Given the description of an element on the screen output the (x, y) to click on. 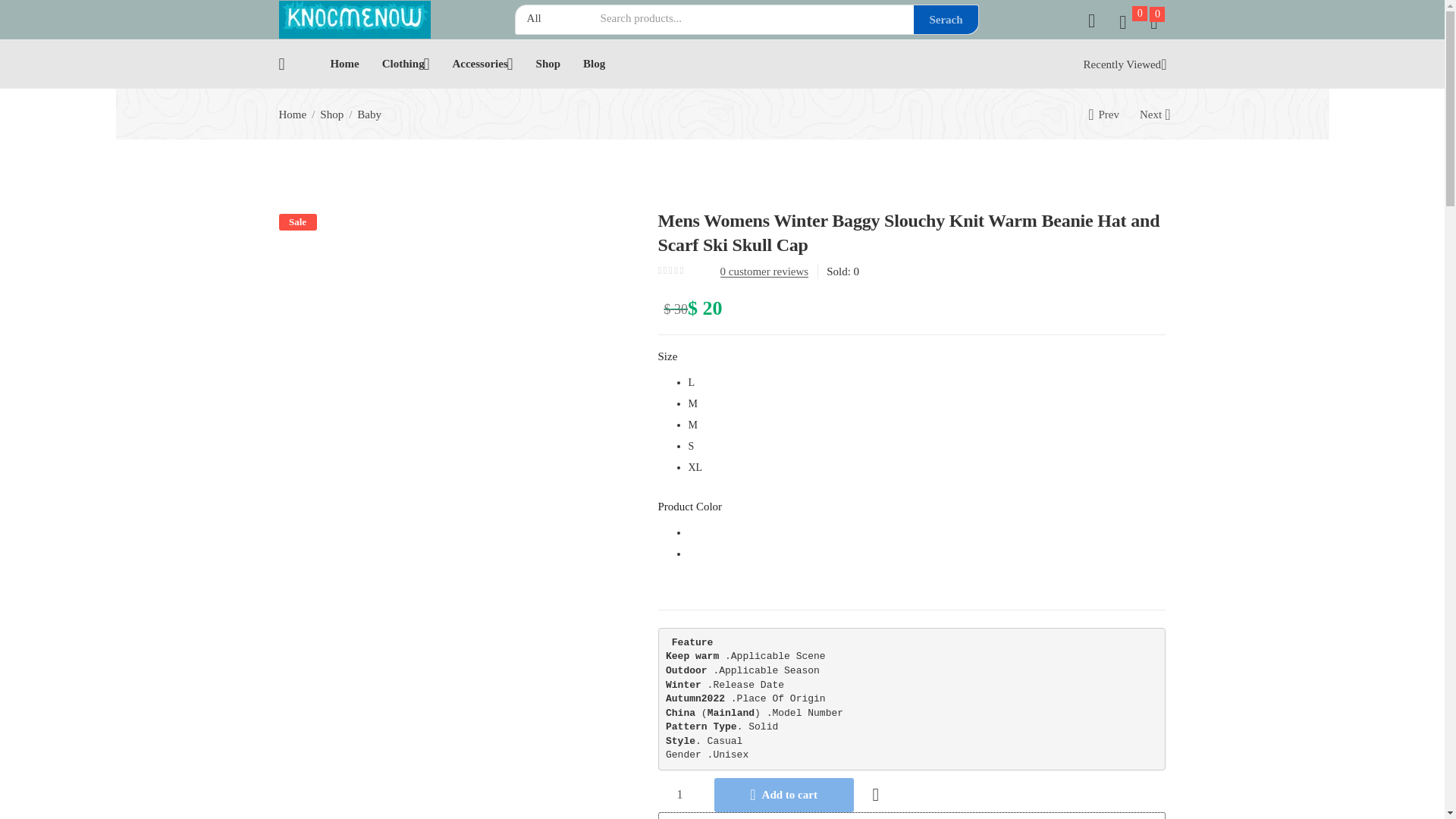
S (927, 446)
M (927, 403)
Black (927, 532)
M (927, 424)
Serach (945, 19)
XL (927, 467)
Home (344, 63)
L (927, 382)
1 (679, 794)
Red (927, 554)
